Given the description of an element on the screen output the (x, y) to click on. 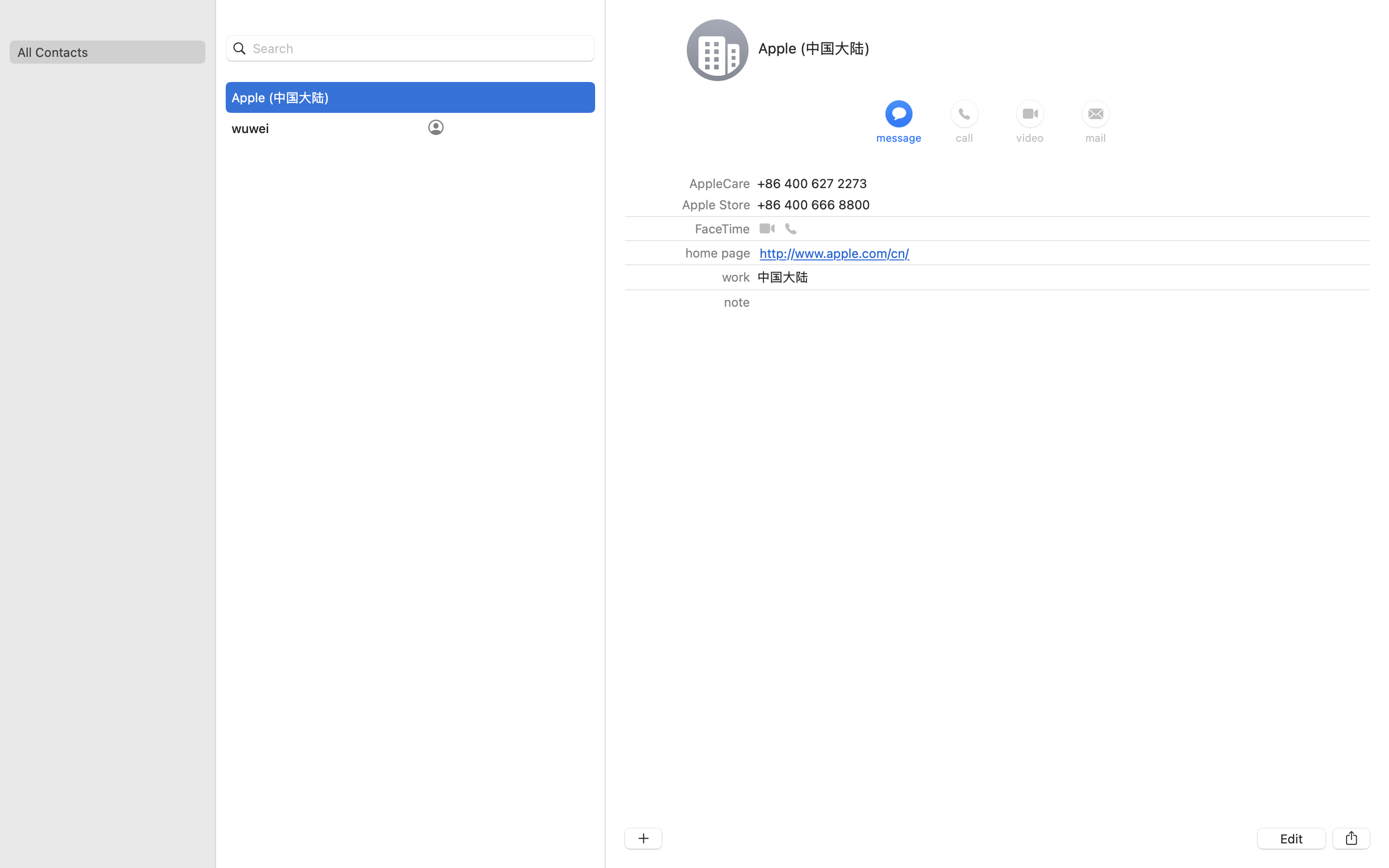
‭+86 400 627 2273‬ Element type: AXStaticText (812, 182)
FaceTime Element type: AXStaticText (721, 228)
wuwei Element type: AXStaticText (250, 127)
Apple (中国大陆) Element type: AXStaticText (813, 47)
